Given the description of an element on the screen output the (x, y) to click on. 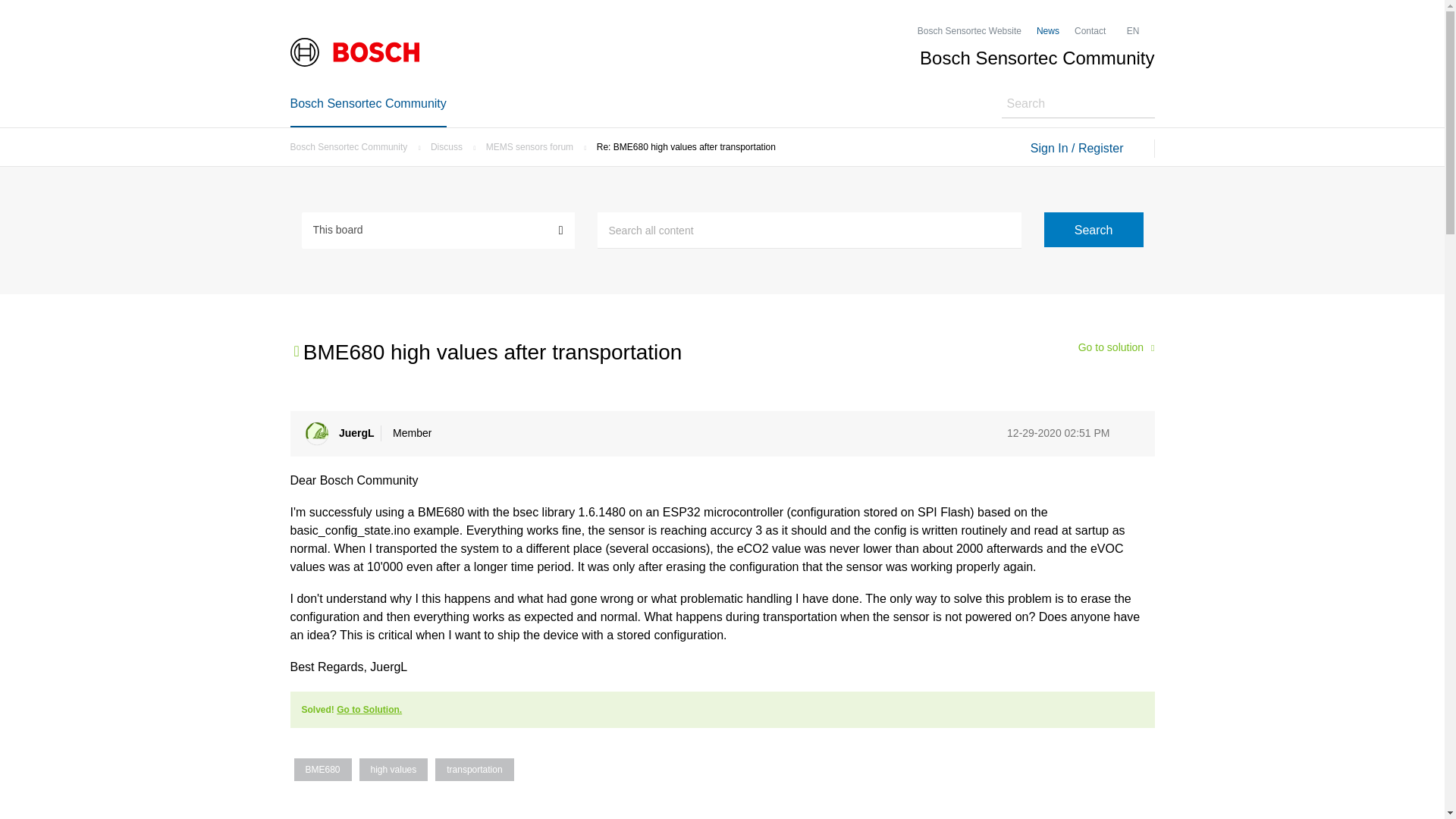
Bosch Sensortec Community (351, 146)
Search (1092, 229)
Bosch Sensortec Website (969, 30)
Search (1092, 229)
Contact (1089, 30)
MEMS sensors forum (533, 146)
Search (809, 230)
Search Granularity (438, 229)
JuergL (315, 433)
Discuss (450, 146)
